Given the description of an element on the screen output the (x, y) to click on. 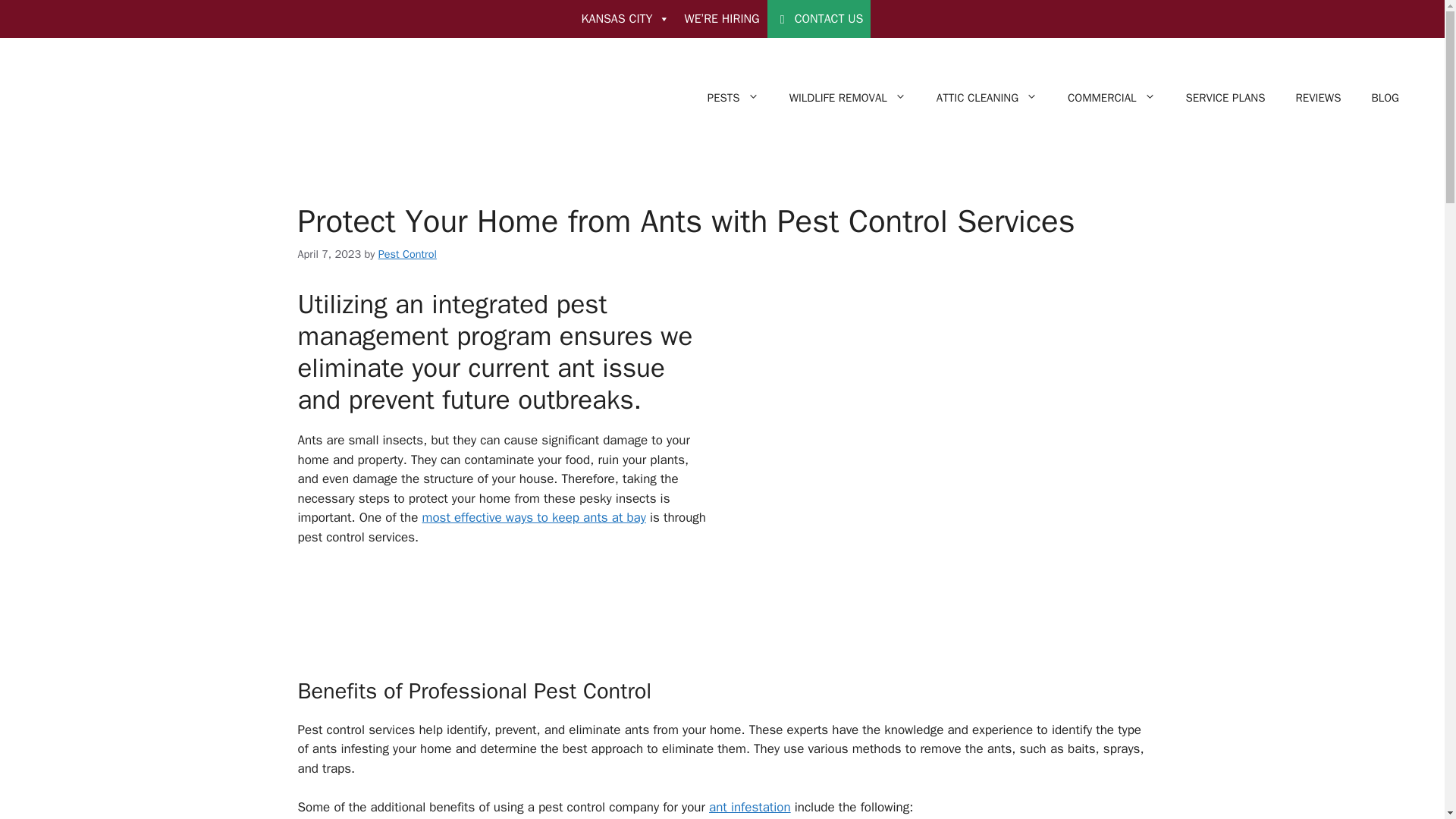
View all posts by Pest Control (407, 254)
KANSAS CITY (625, 18)
PESTS (733, 97)
CONTACT US (818, 18)
WILDLIFE REMOVAL (847, 97)
